Given the description of an element on the screen output the (x, y) to click on. 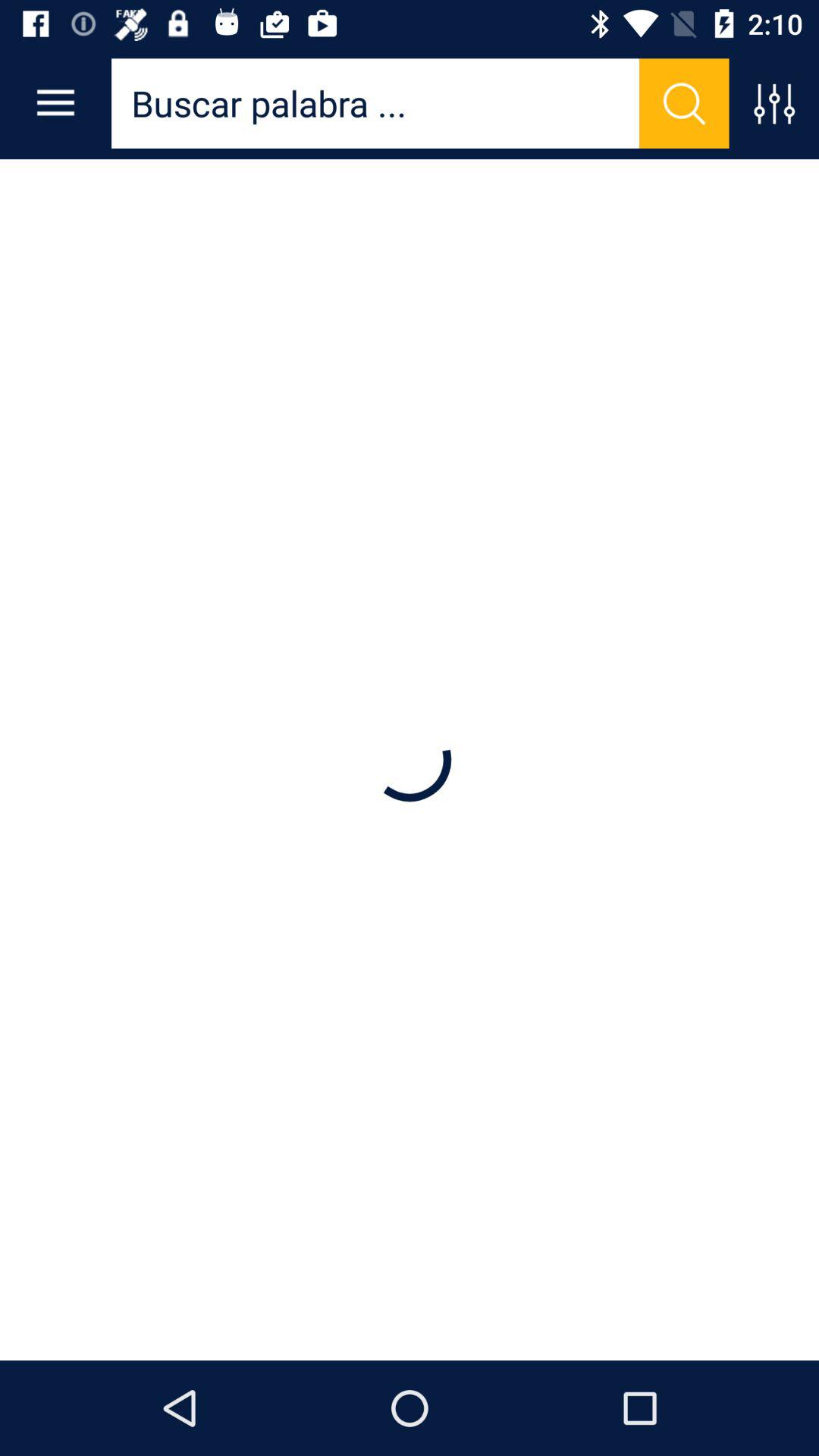
search button (684, 103)
